Given the description of an element on the screen output the (x, y) to click on. 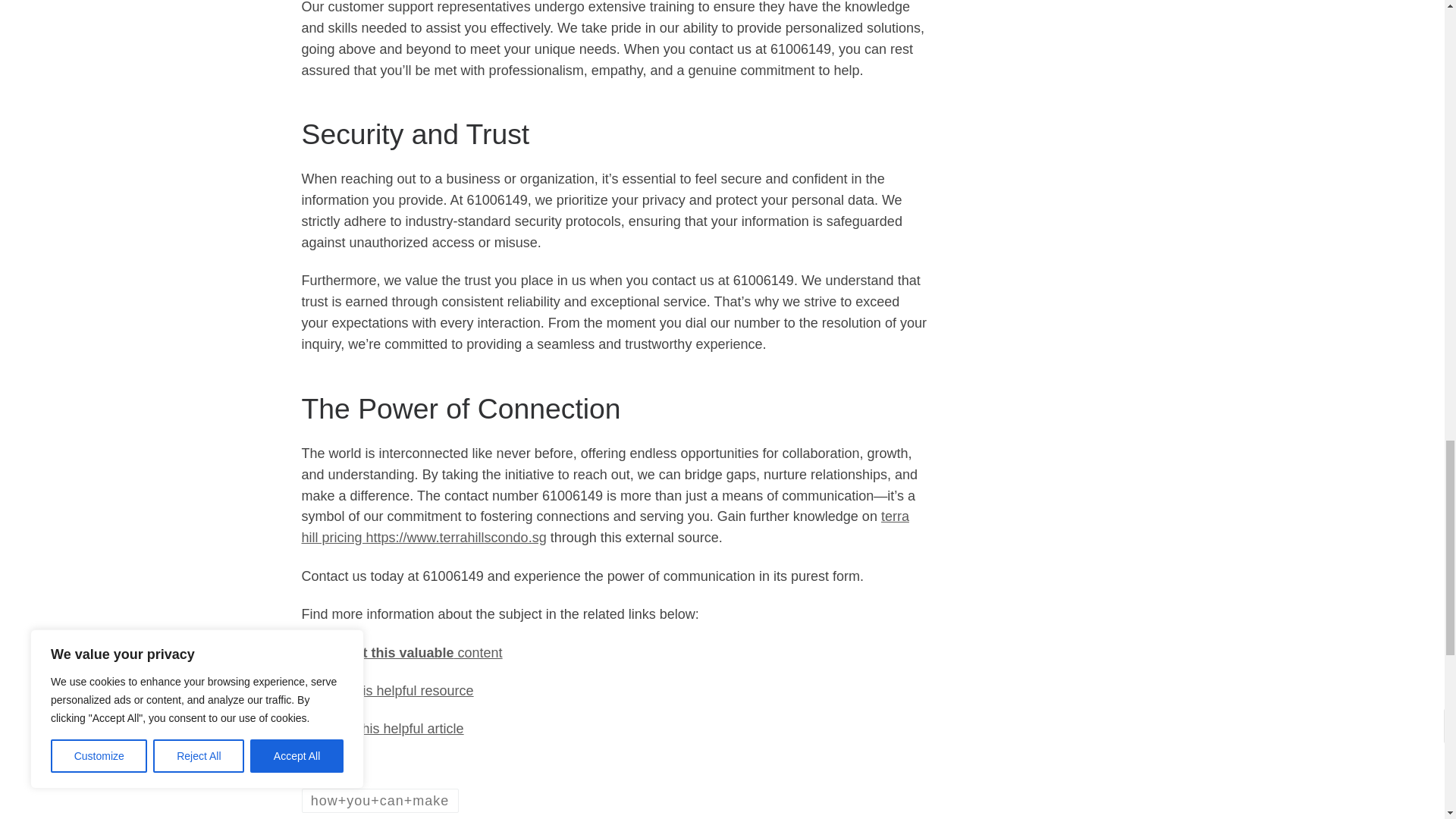
Check out this valuable content (401, 652)
Examine this helpful article (382, 728)
Explore this helpful resource (387, 690)
